Given the description of an element on the screen output the (x, y) to click on. 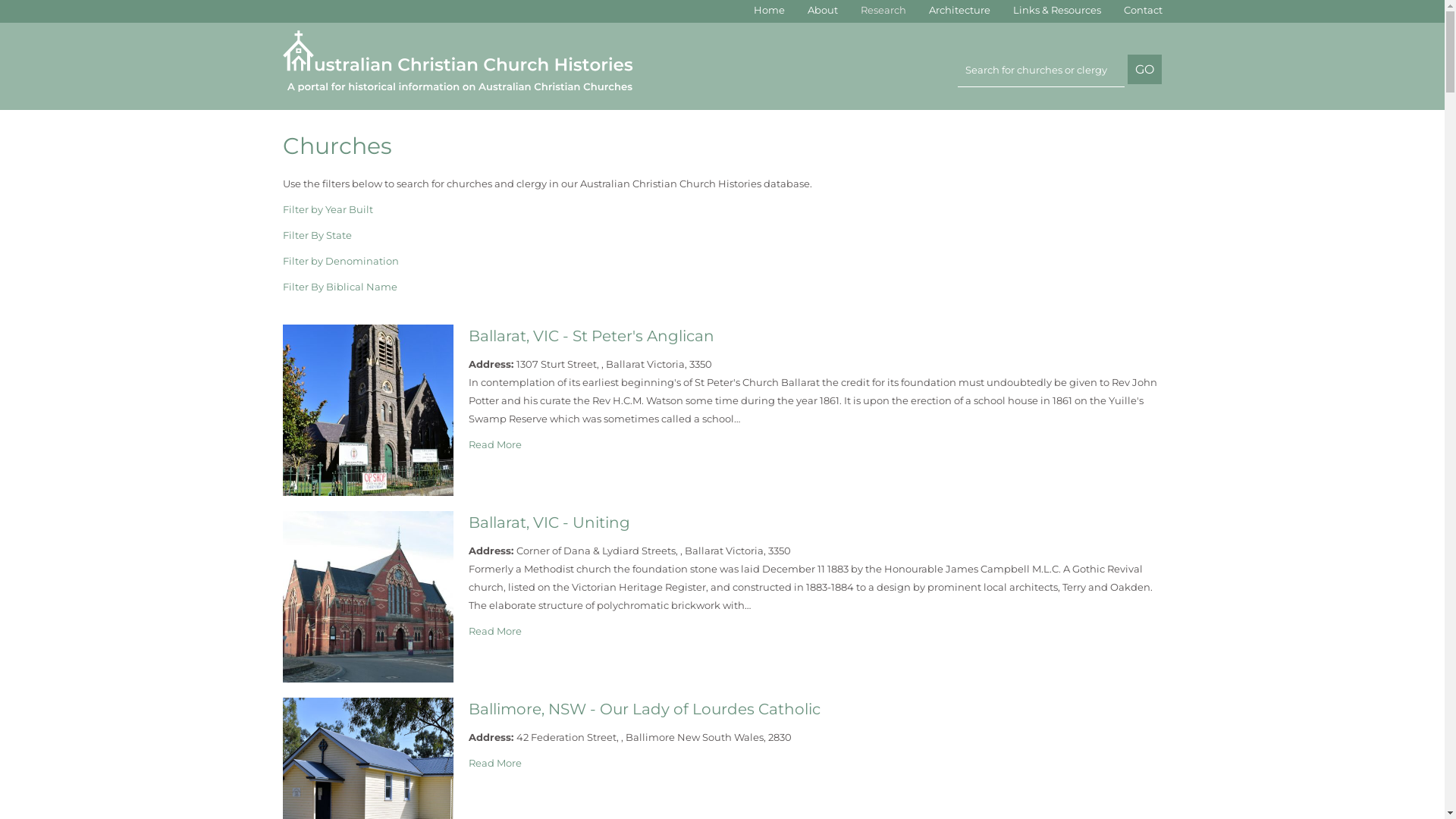
Filter By Biblical Name Element type: text (339, 286)
Home Element type: text (768, 9)
Ballarat, VIC - Uniting Element type: text (549, 522)
Ballimore, NSW - Our Lady of Lourdes Catholic Element type: text (644, 708)
Read More Element type: text (494, 444)
Australian Christian Church Histories Element type: text (467, 60)
Architecture Element type: text (958, 9)
Links & Resources Element type: text (1057, 9)
GO Element type: text (1144, 69)
Filter By State Element type: text (316, 235)
Read More Element type: text (494, 630)
Ballarat, VIC - St Peter's Anglican Element type: text (591, 335)
Filter by Denomination Element type: text (340, 260)
Contact Element type: text (1142, 9)
Research Element type: text (882, 9)
Filter by Year Built Element type: text (327, 209)
About Element type: text (821, 9)
Read More Element type: text (494, 762)
